Given the description of an element on the screen output the (x, y) to click on. 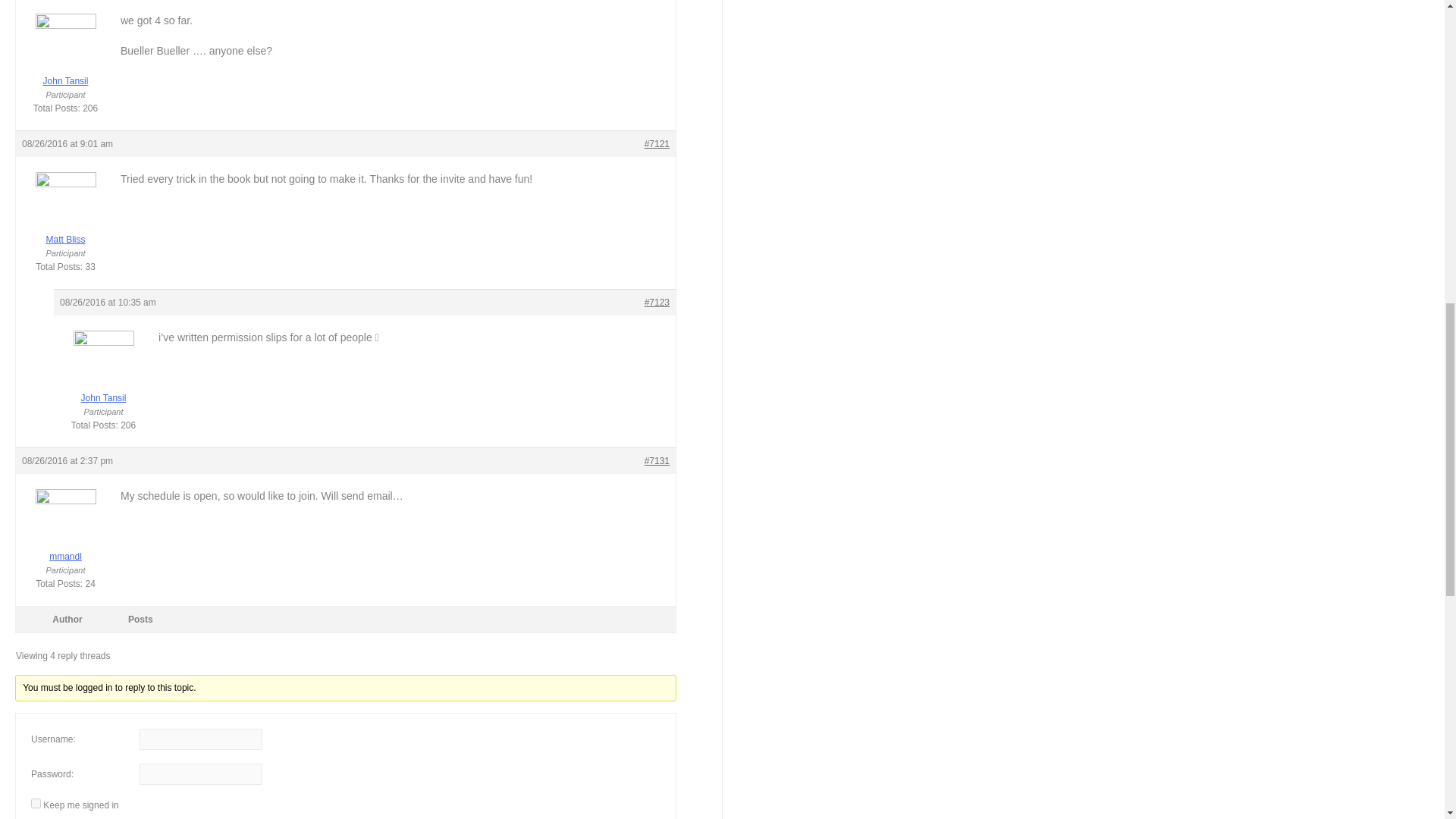
View John Tansil's profile (103, 377)
View mmandl's profile (65, 535)
View Matt Bliss's profile (65, 218)
View John Tansil's profile (65, 60)
forever (35, 803)
